Given the description of an element on the screen output the (x, y) to click on. 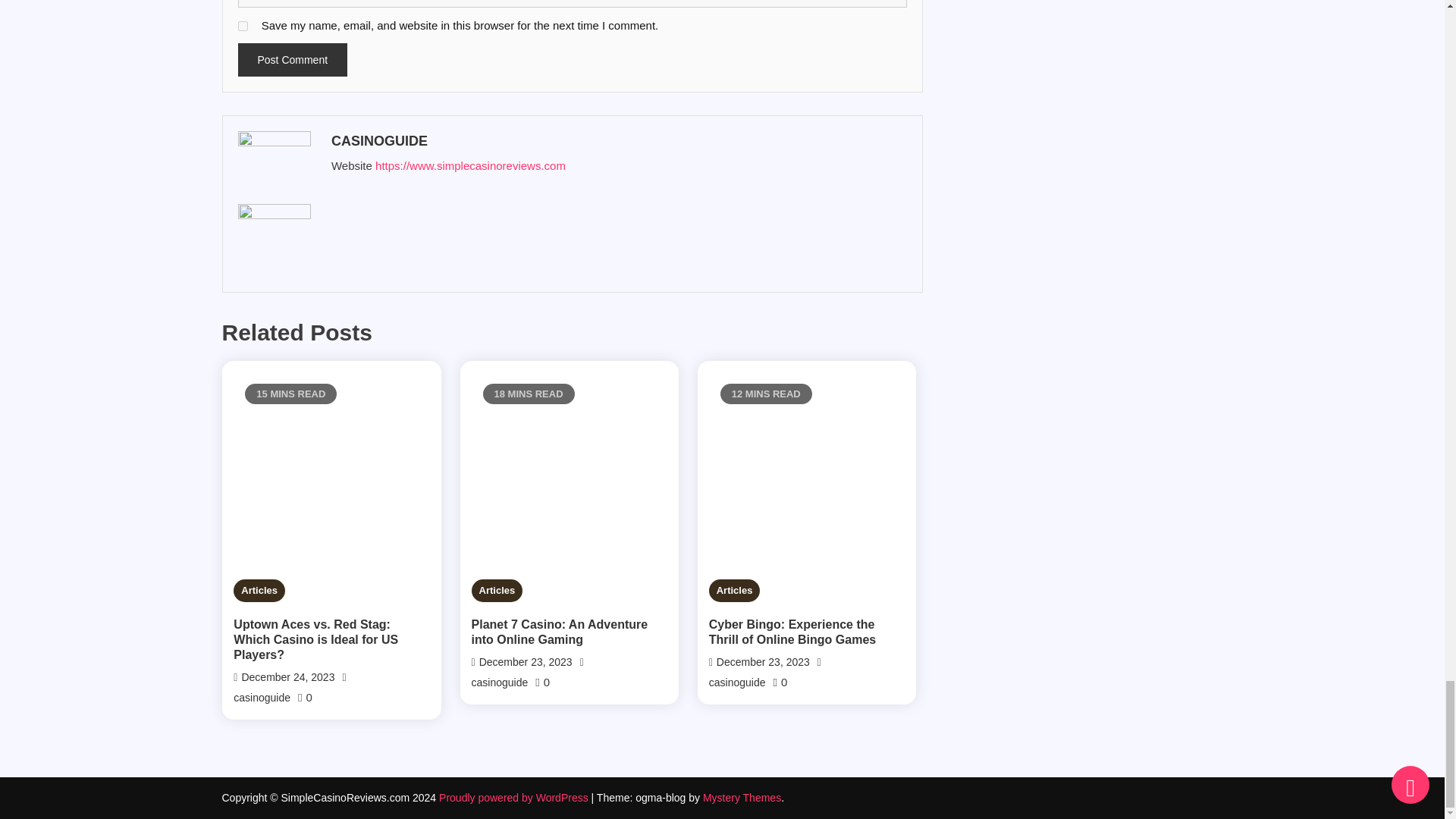
Posts by casinoguide (615, 141)
Post Comment (292, 59)
yes (242, 26)
